Given the description of an element on the screen output the (x, y) to click on. 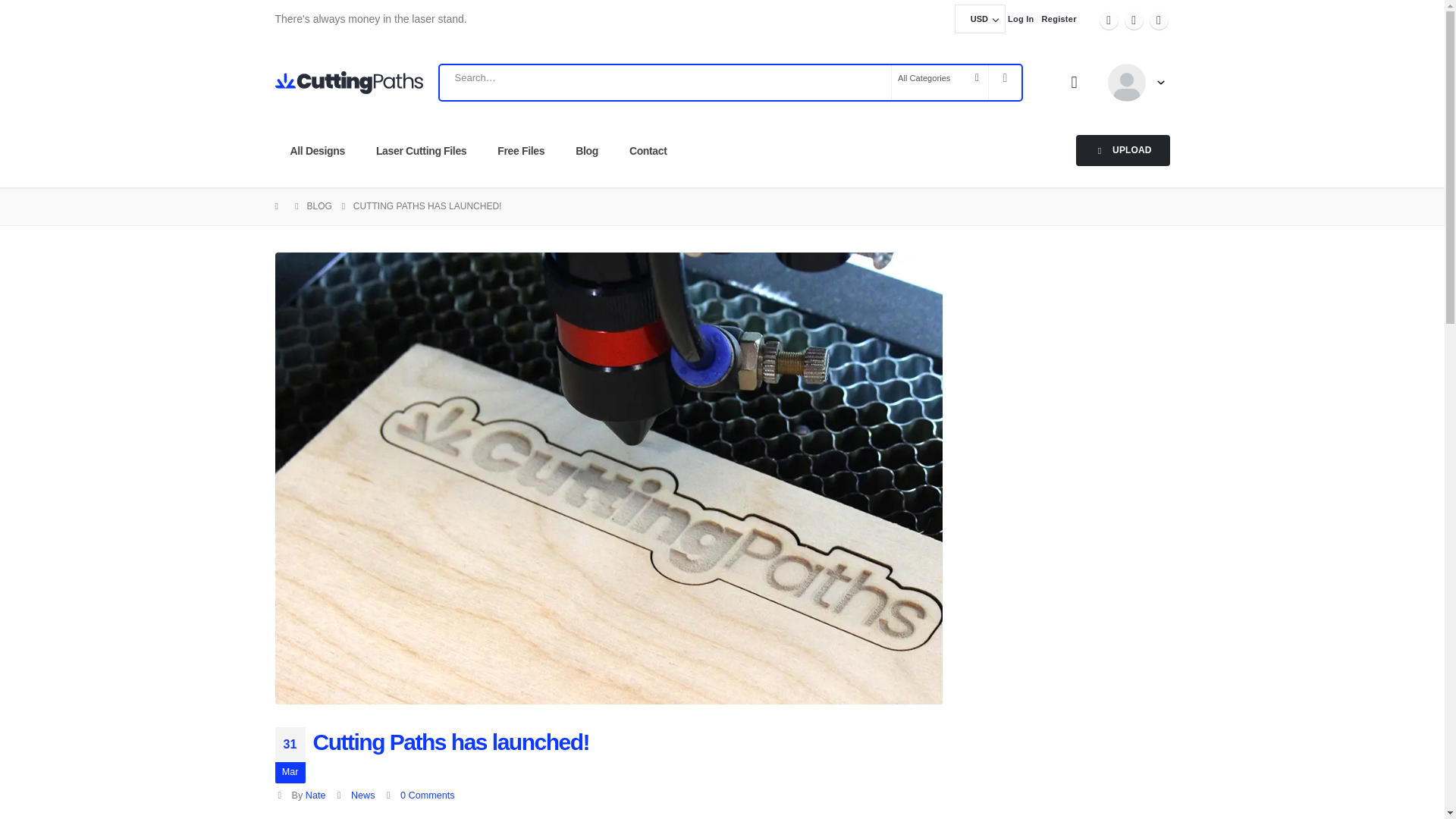
All Designs (317, 150)
Laser Cutting Files (421, 150)
0 Comments (427, 795)
Nate (315, 795)
Posts by Nate (315, 795)
Facebook (1108, 19)
UPLOAD (1122, 150)
BLOG (318, 206)
Search (1005, 77)
Contact (648, 150)
